Given the description of an element on the screen output the (x, y) to click on. 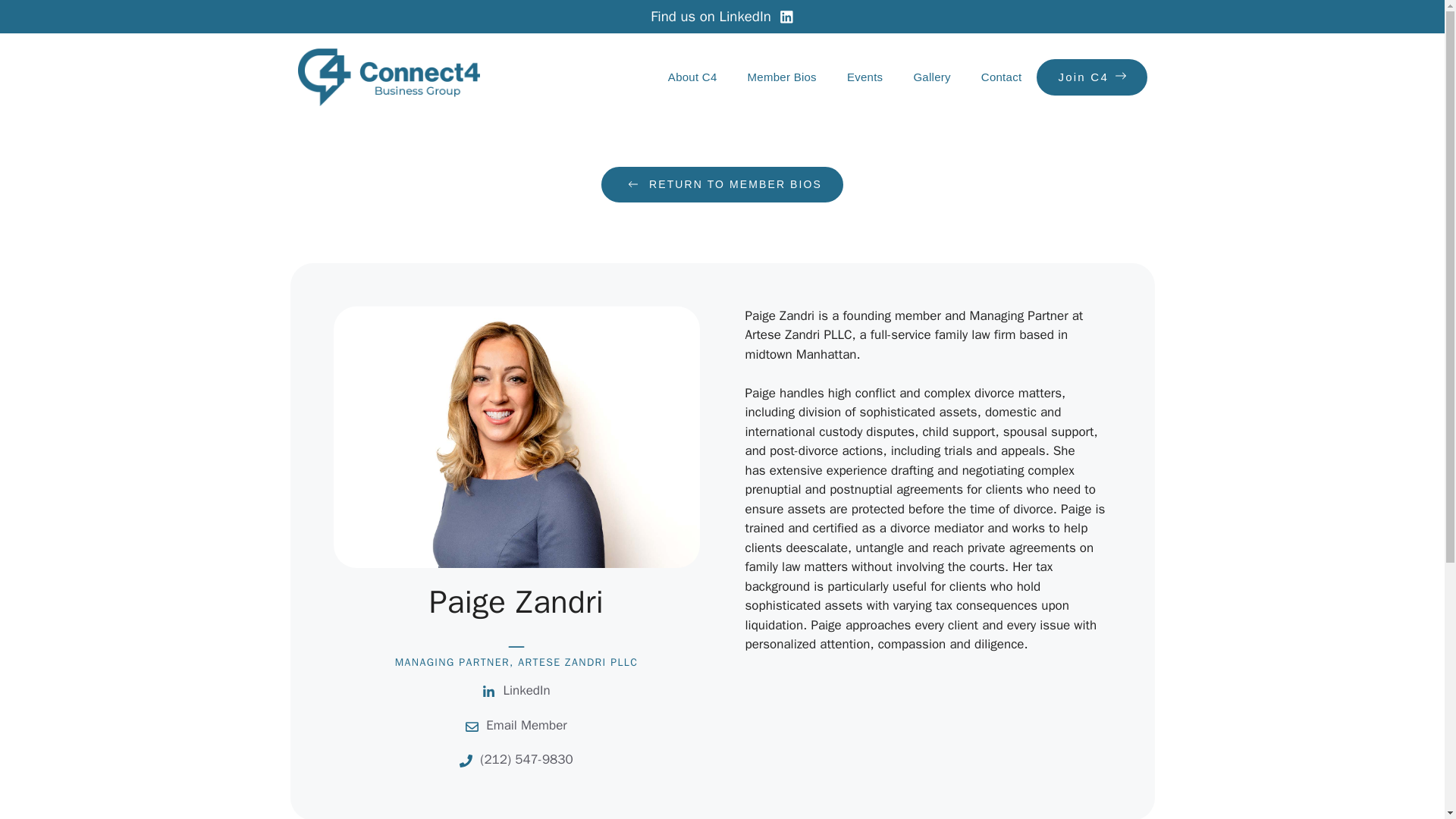
About C4 (692, 76)
Email Member (526, 725)
Events (864, 76)
Member Bios (781, 76)
Gallery (931, 76)
Join C4 (1091, 77)
Contact (1001, 76)
LinkedIn (526, 690)
RETURN TO MEMBER BIOS (722, 184)
